Given the description of an element on the screen output the (x, y) to click on. 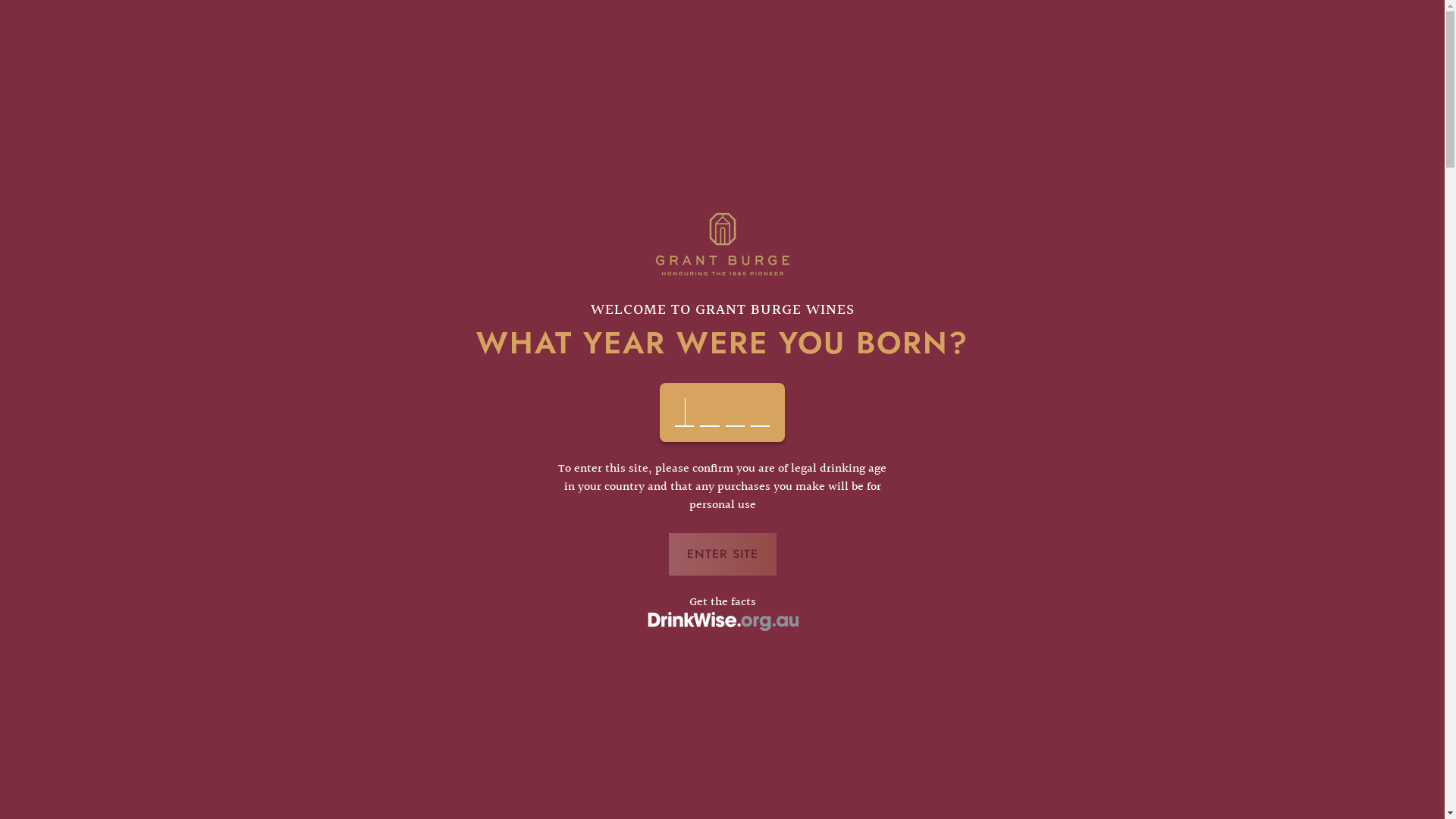
Grant Burge Element type: hover (295, 56)
Our Story Element type: text (489, 56)
Get the facts Element type: text (721, 602)
BOOK NOW Element type: text (661, 57)
ENTER SITE Element type: text (722, 553)
Shopping Cart Element type: hover (1220, 57)
Cellar Door Element type: text (568, 56)
Our Wines Element type: text (410, 56)
JOIN THE CLUB Element type: text (917, 56)
Visit Our Cellar Door - Book Now Element type: text (721, 14)
